Given the description of an element on the screen output the (x, y) to click on. 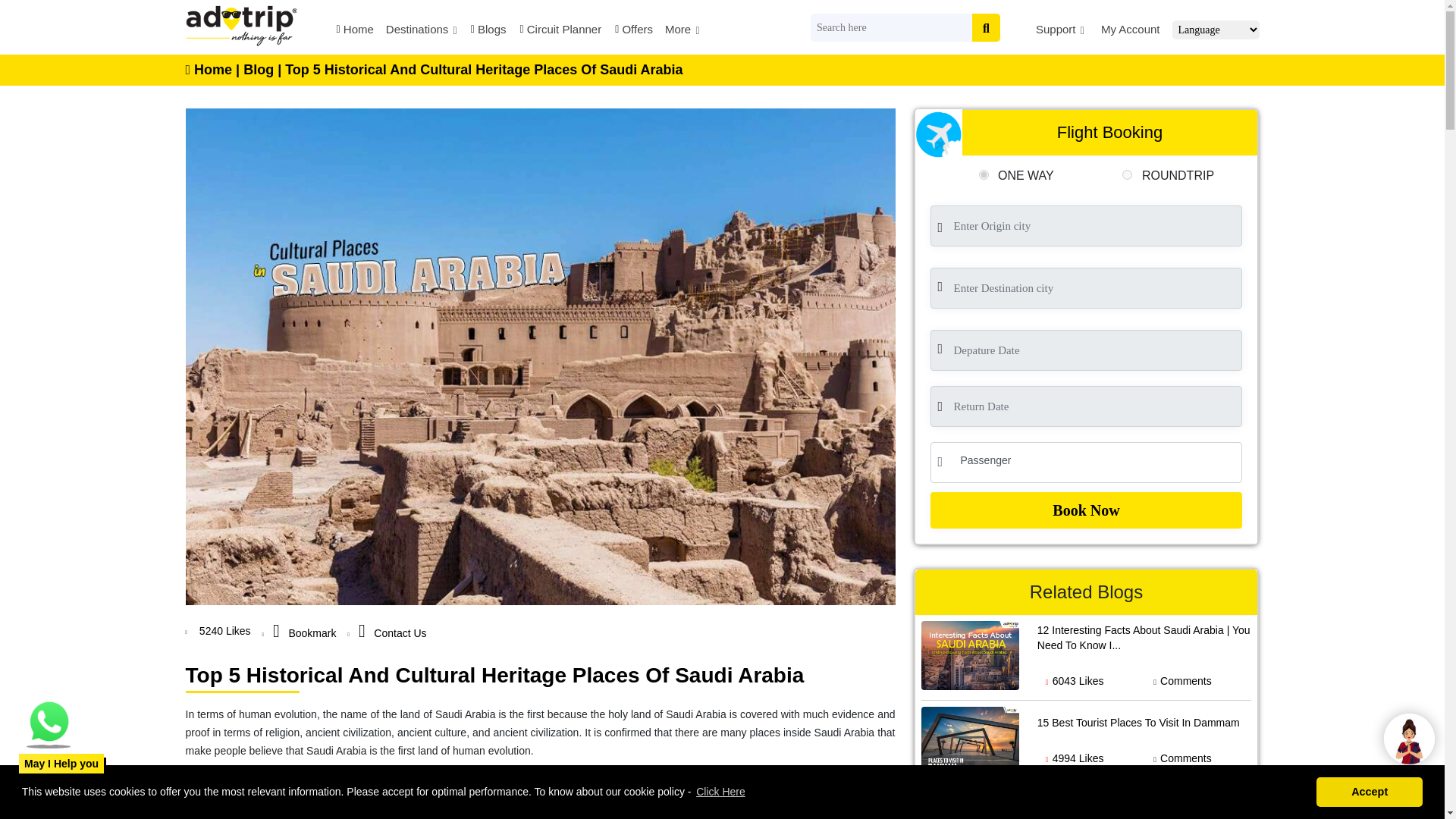
oneway (983, 174)
circle (1127, 174)
Home (354, 31)
My Account (1128, 31)
More (681, 31)
Support (1059, 31)
Click Here (718, 797)
Circuit Planner (559, 31)
YUKI (1409, 742)
Book Now (1085, 510)
Accept (1369, 798)
5240 Likes (223, 630)
Destinations (421, 31)
Offers (632, 31)
